Given the description of an element on the screen output the (x, y) to click on. 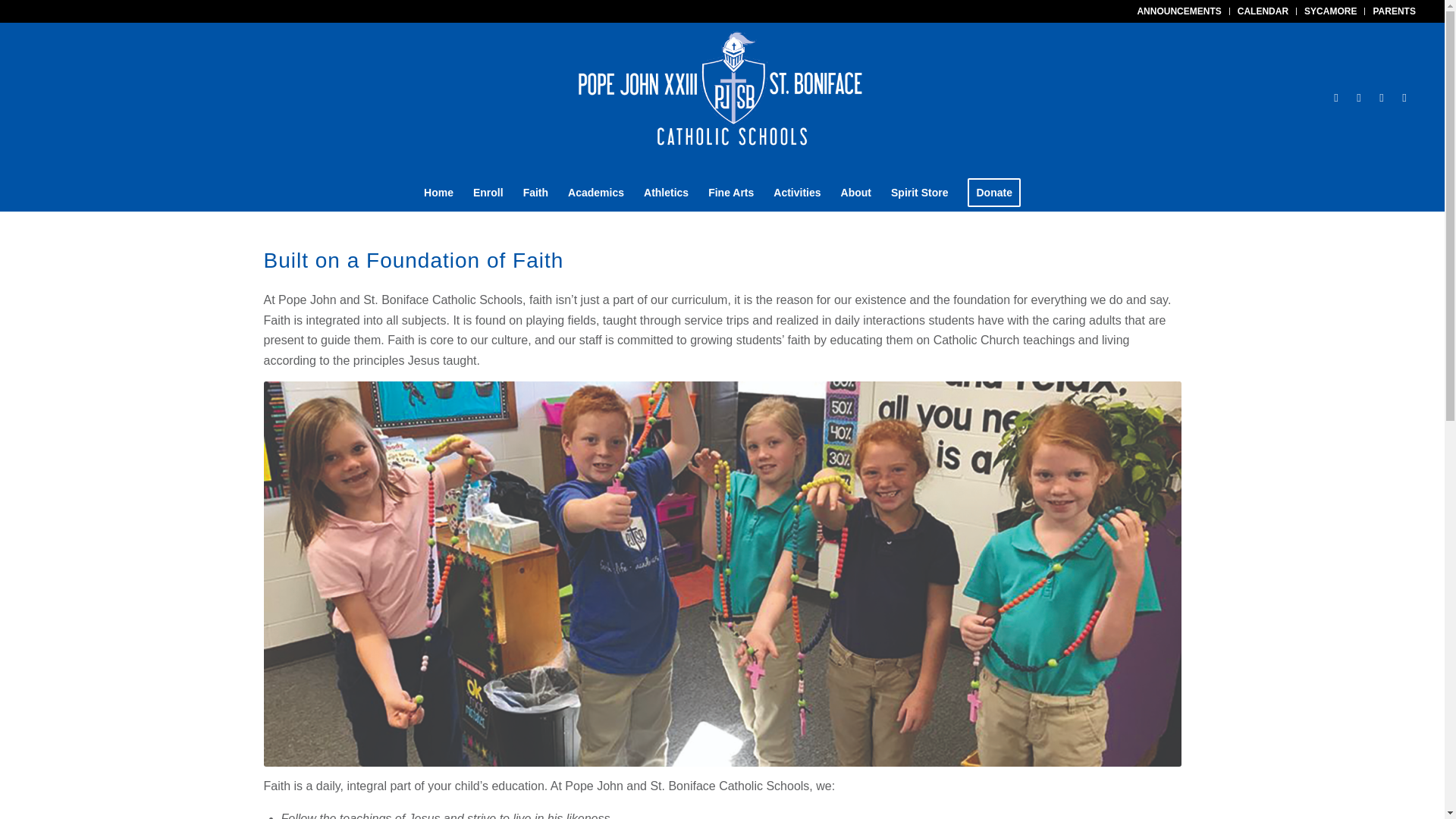
Instagram (1404, 97)
CALENDAR (1262, 11)
Enroll (488, 192)
Facebook (1359, 97)
Athletics (665, 192)
PARENTS (1394, 11)
Activities (795, 192)
Fine Arts (730, 192)
Twitter (1336, 97)
Donate (993, 192)
CALENDAR (1262, 11)
SYCAMORE (1330, 11)
About (855, 192)
Student Information (1330, 11)
